Given the description of an element on the screen output the (x, y) to click on. 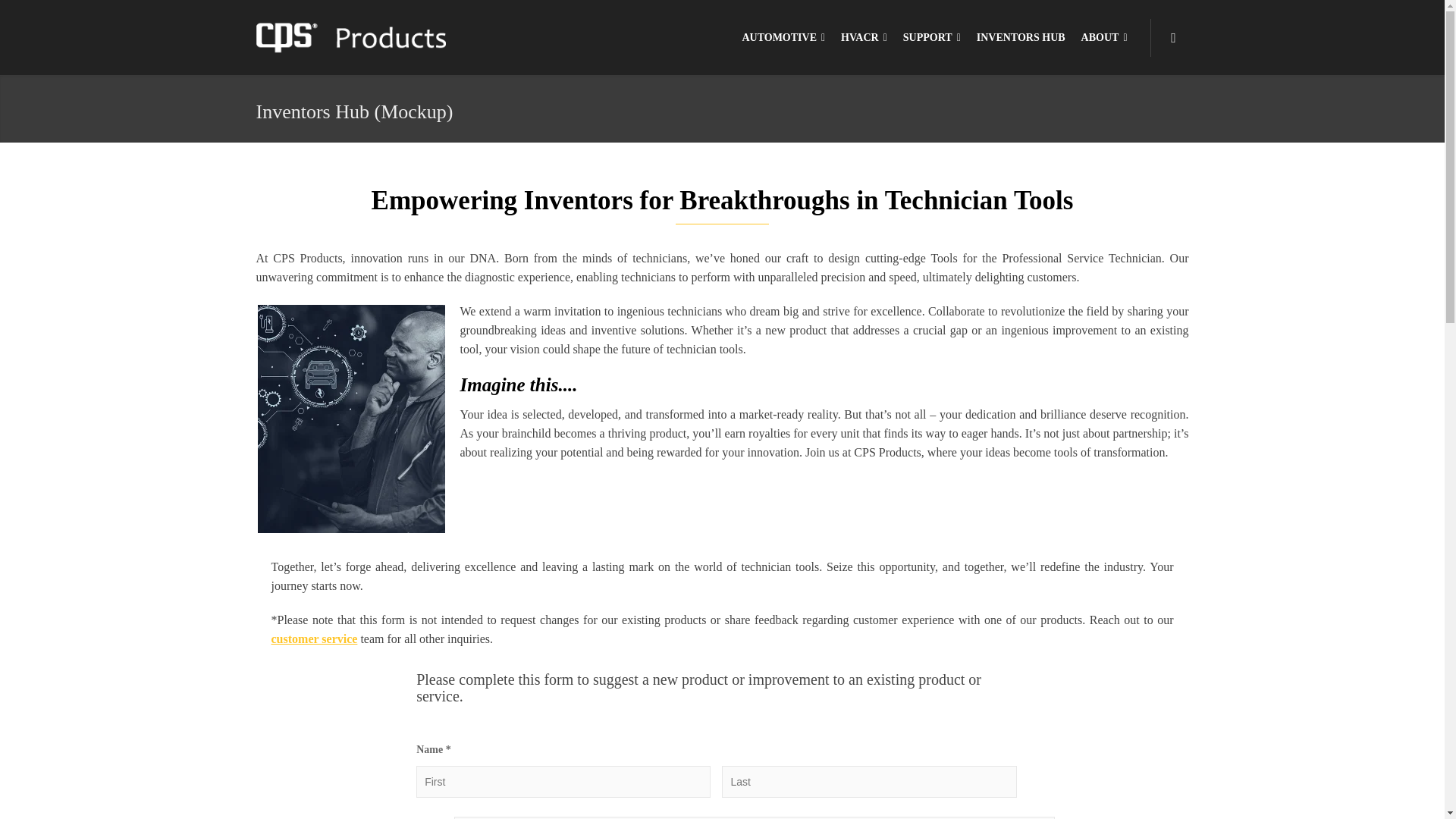
AUTOMOTIVE (782, 38)
CPS Products Inc. (350, 36)
